Given the description of an element on the screen output the (x, y) to click on. 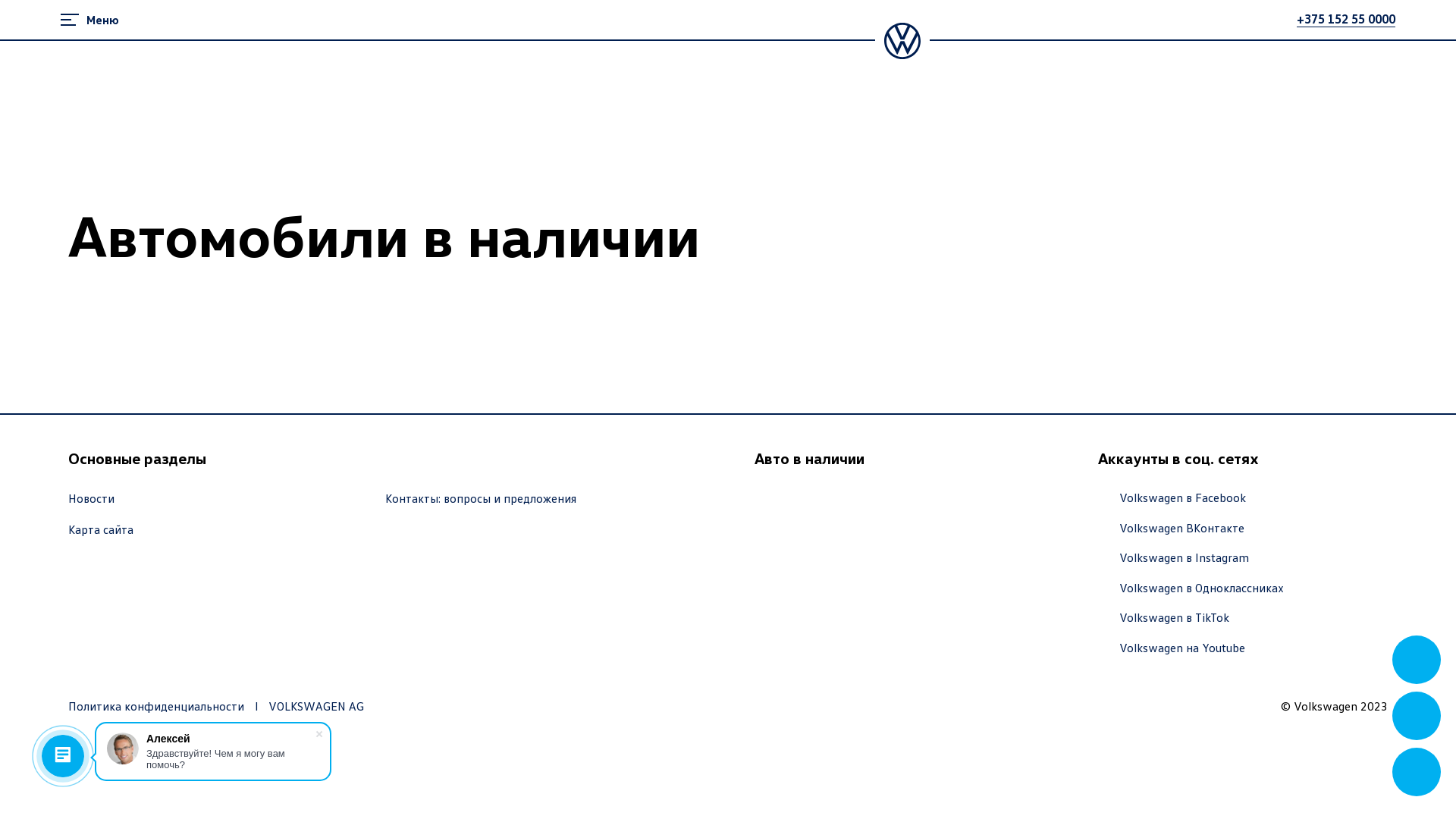
+375 152 55 0000 Element type: text (1345, 18)
VOLKSWAGEN AG Element type: text (316, 706)
